Given the description of an element on the screen output the (x, y) to click on. 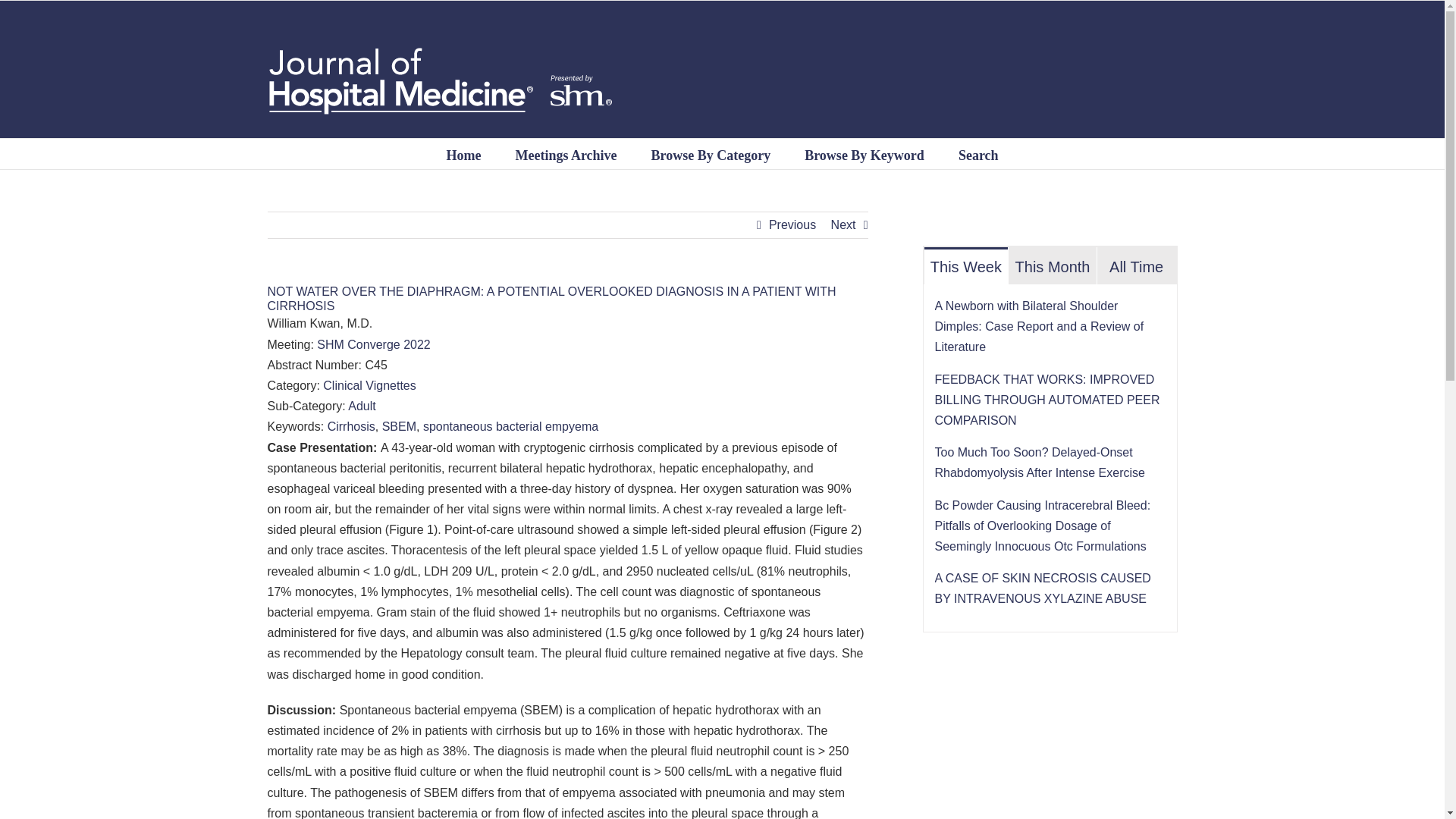
Clinical Vignettes (368, 385)
Search (978, 153)
SBEM (398, 426)
SHM Converge 2022 (373, 344)
A CASE OF SKIN NECROSIS CAUSED BY INTRAVENOUS XYLAZINE ABUSE (1042, 588)
spontaneous bacterial empyema (510, 426)
Previous (791, 225)
Next (843, 225)
Cirrhosis (351, 426)
Browse By Category (710, 153)
This Month (1052, 265)
Browse By Keyword (864, 153)
